Given the description of an element on the screen output the (x, y) to click on. 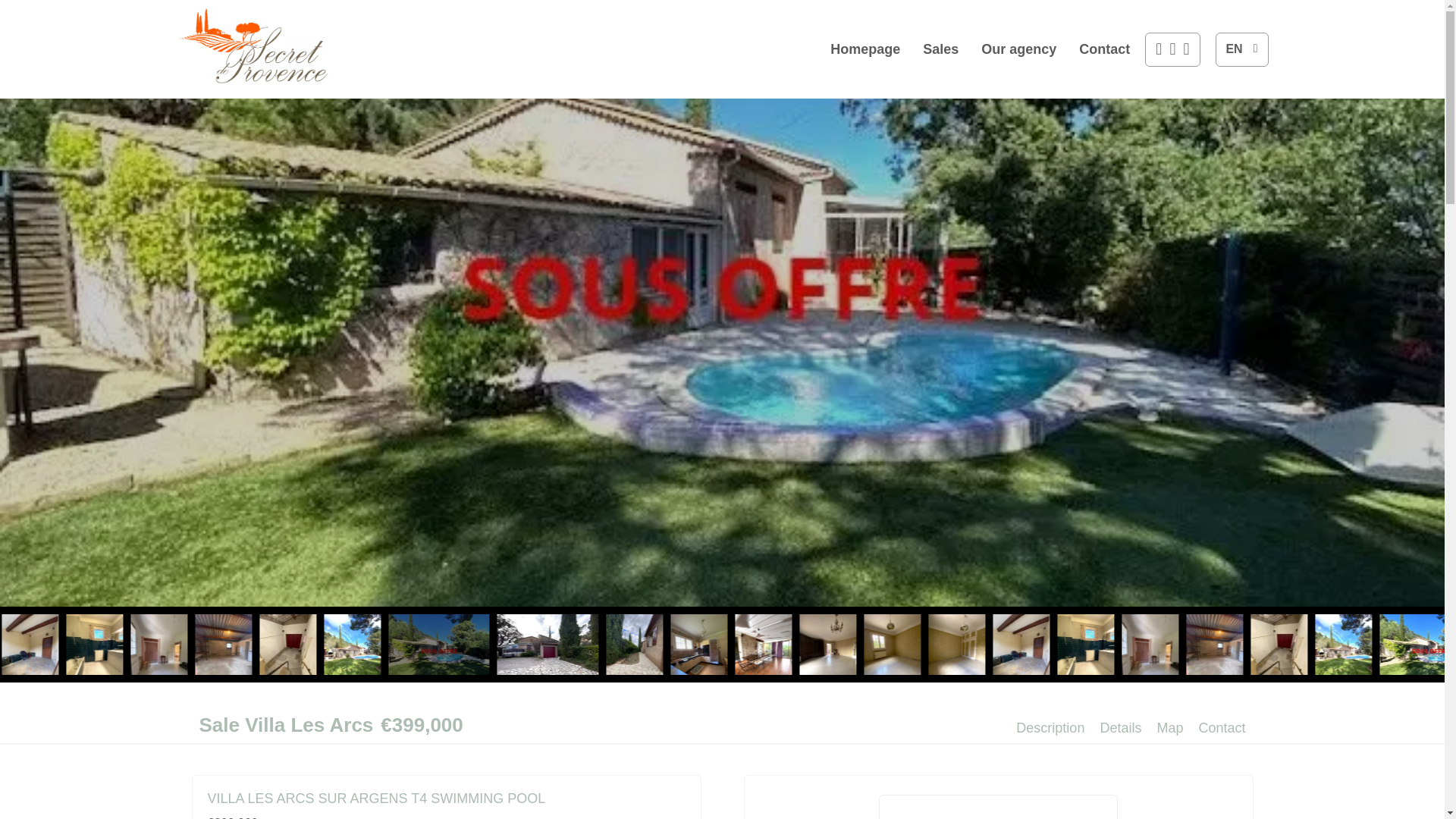
Description (1050, 727)
Contact (1103, 48)
Contact (1221, 727)
Our agency (1019, 48)
Sales (940, 48)
Details (1120, 727)
Map (1169, 727)
Homepage (864, 48)
Homepage (251, 48)
En (1241, 48)
